Given the description of an element on the screen output the (x, y) to click on. 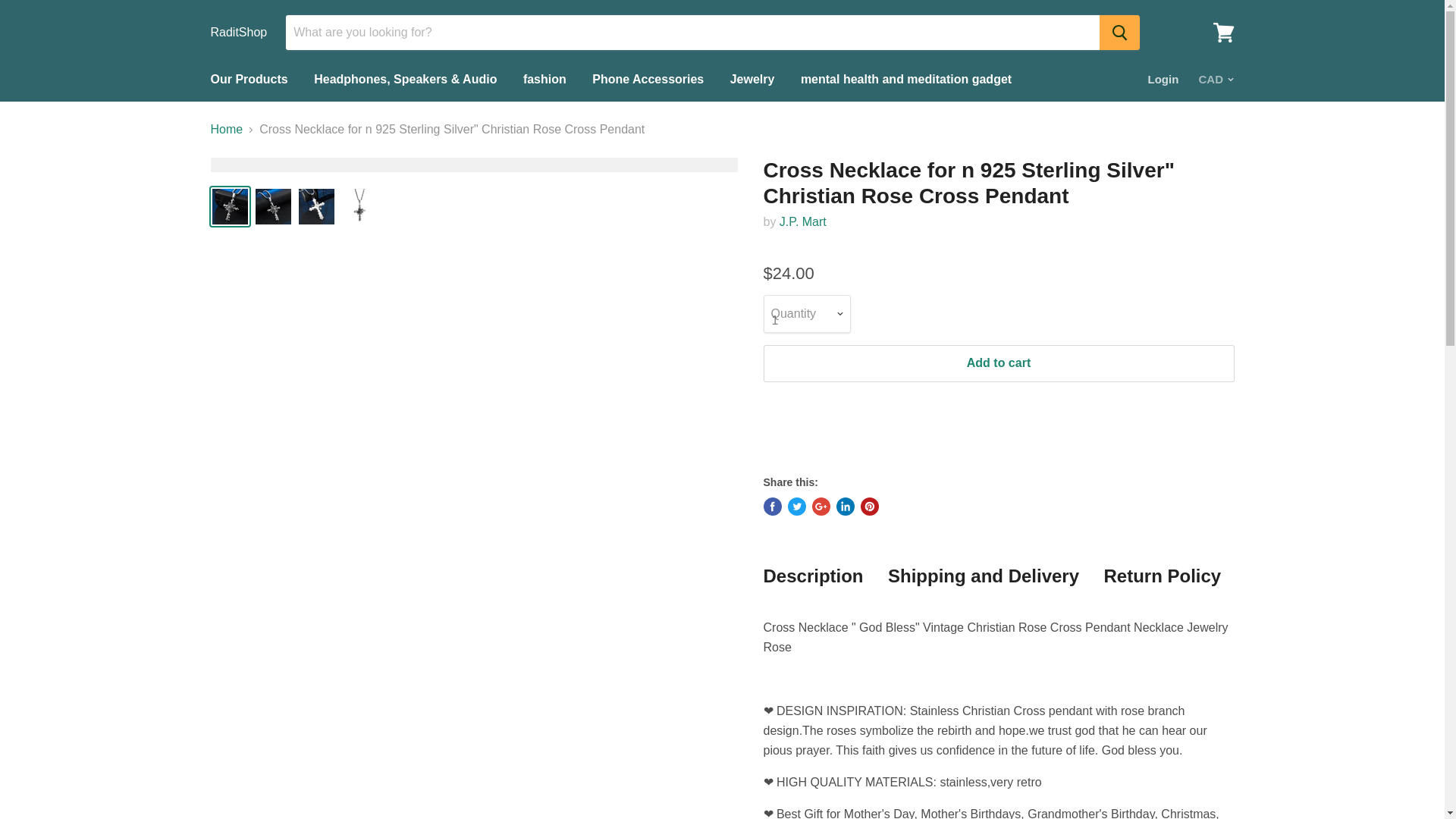
Phone Accessories (647, 79)
RaditShop (239, 32)
J.P. Mart (802, 221)
View cart (1223, 32)
Our Products (248, 79)
Home (227, 129)
Tweet on Twitter (796, 506)
Share on Facebook (771, 506)
J.P. Mart (802, 221)
Share on LinkedIn (844, 506)
